Given the description of an element on the screen output the (x, y) to click on. 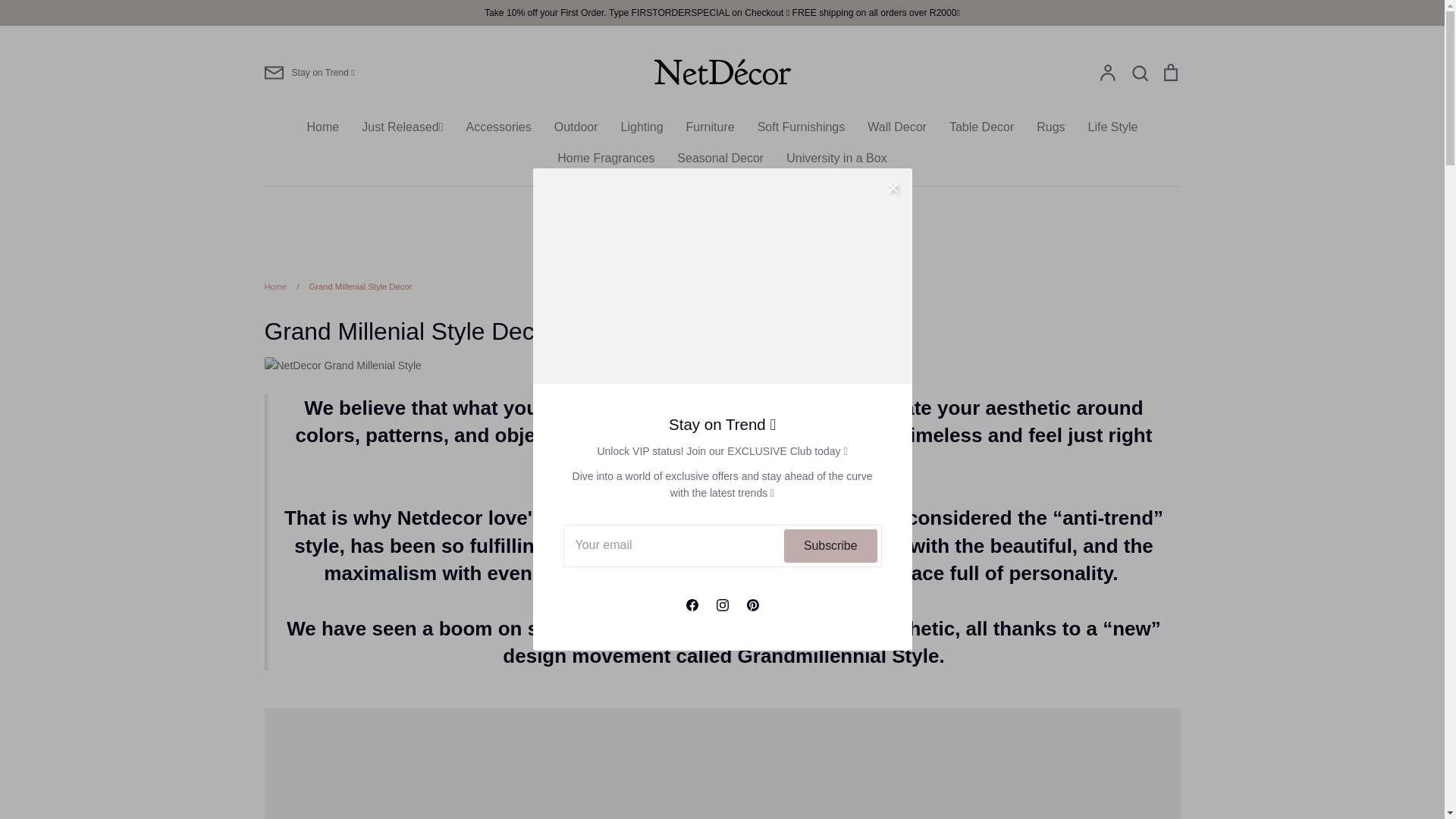
Accessories (498, 126)
Home (323, 126)
Search (1139, 70)
Account (1107, 70)
Cart (1169, 70)
